Given the description of an element on the screen output the (x, y) to click on. 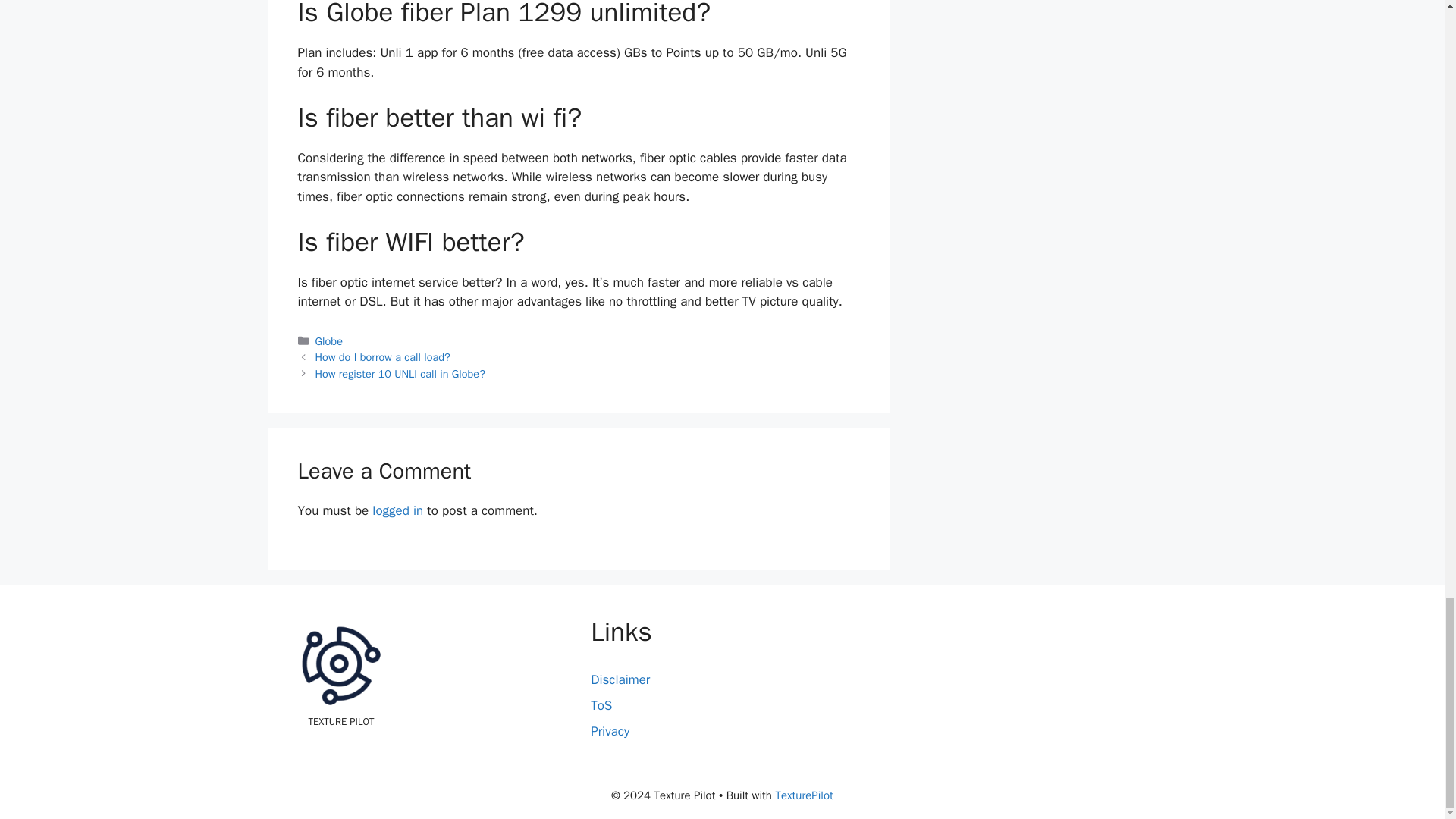
How do I borrow a call load? (382, 356)
TexturePilot (803, 795)
Privacy (609, 731)
Globe (328, 341)
logged in (397, 510)
Disclaimer (620, 679)
ToS (601, 705)
How register 10 UNLI call in Globe? (399, 373)
